Given the description of an element on the screen output the (x, y) to click on. 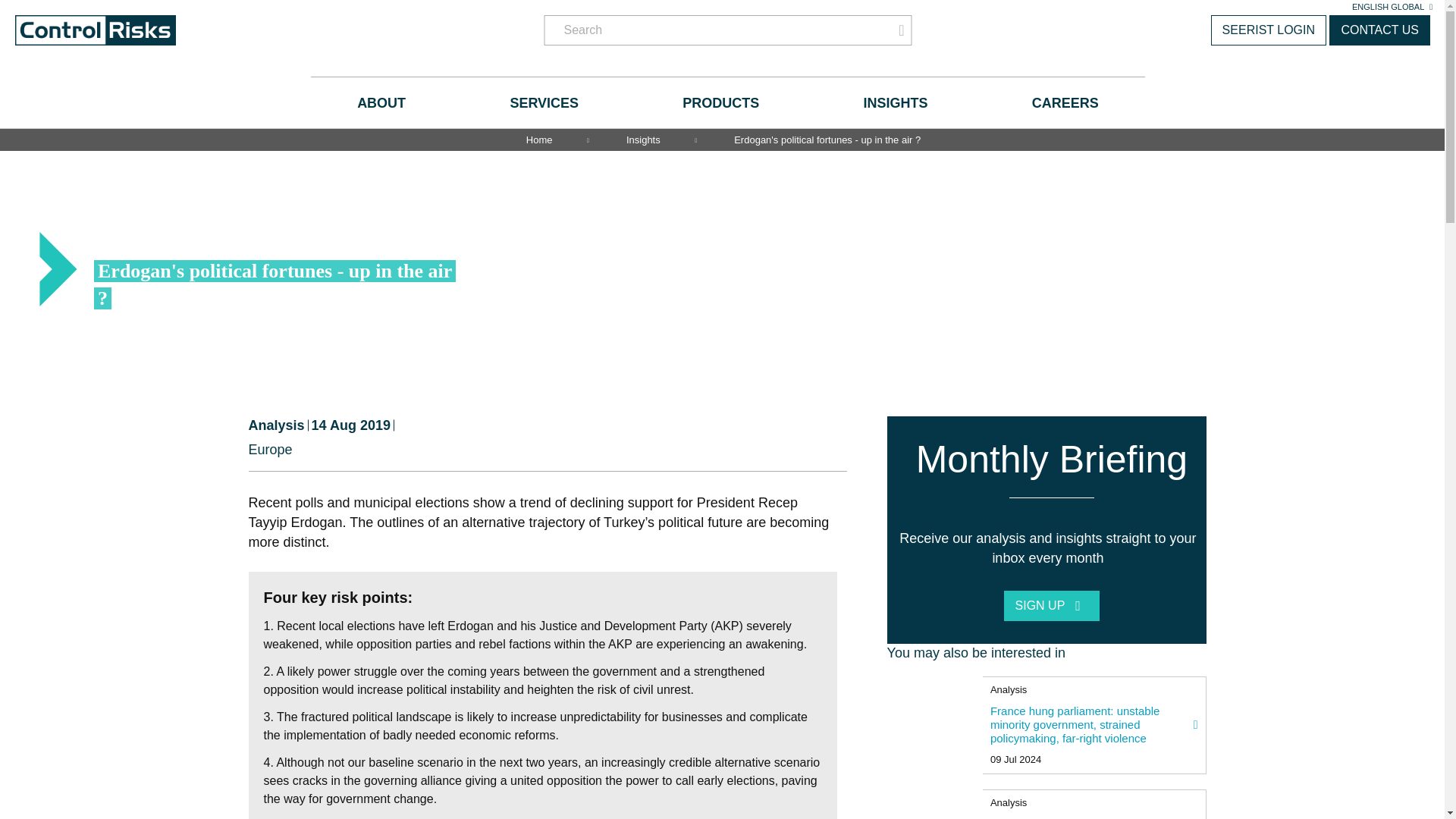
PRODUCTS (720, 101)
SERVICES (543, 101)
ABOUT (381, 101)
